Given the description of an element on the screen output the (x, y) to click on. 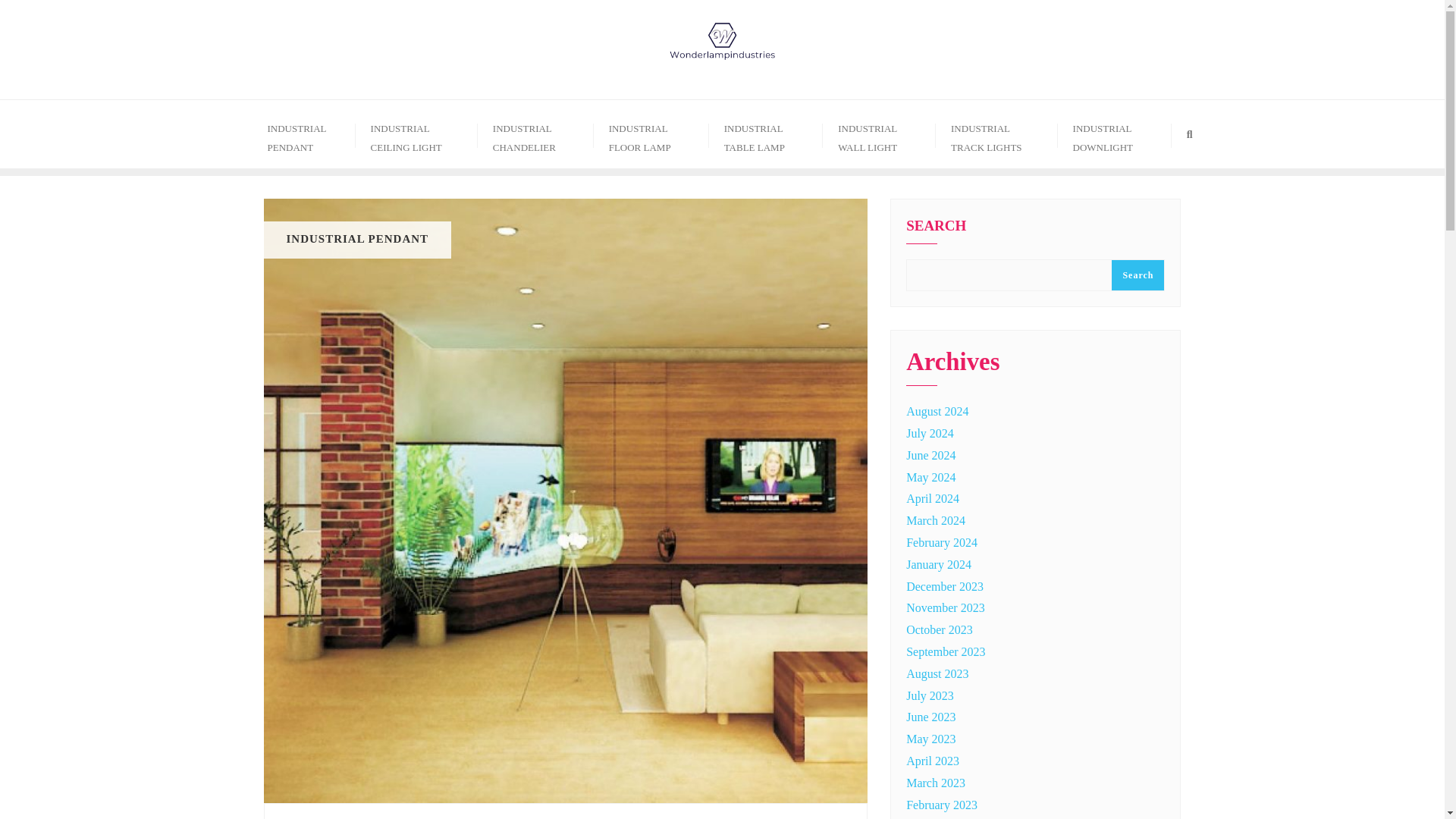
INDUSTRIAL DOWNLIGHT (1115, 133)
February 2024 (940, 542)
May 2024 (930, 477)
INDUSTRIAL TABLE LAMP (766, 133)
June 2023 (930, 716)
March 2024 (935, 520)
INDUSTRIAL WALL LIGHT (879, 133)
December 2023 (944, 585)
August 2023 (936, 673)
